Given the description of an element on the screen output the (x, y) to click on. 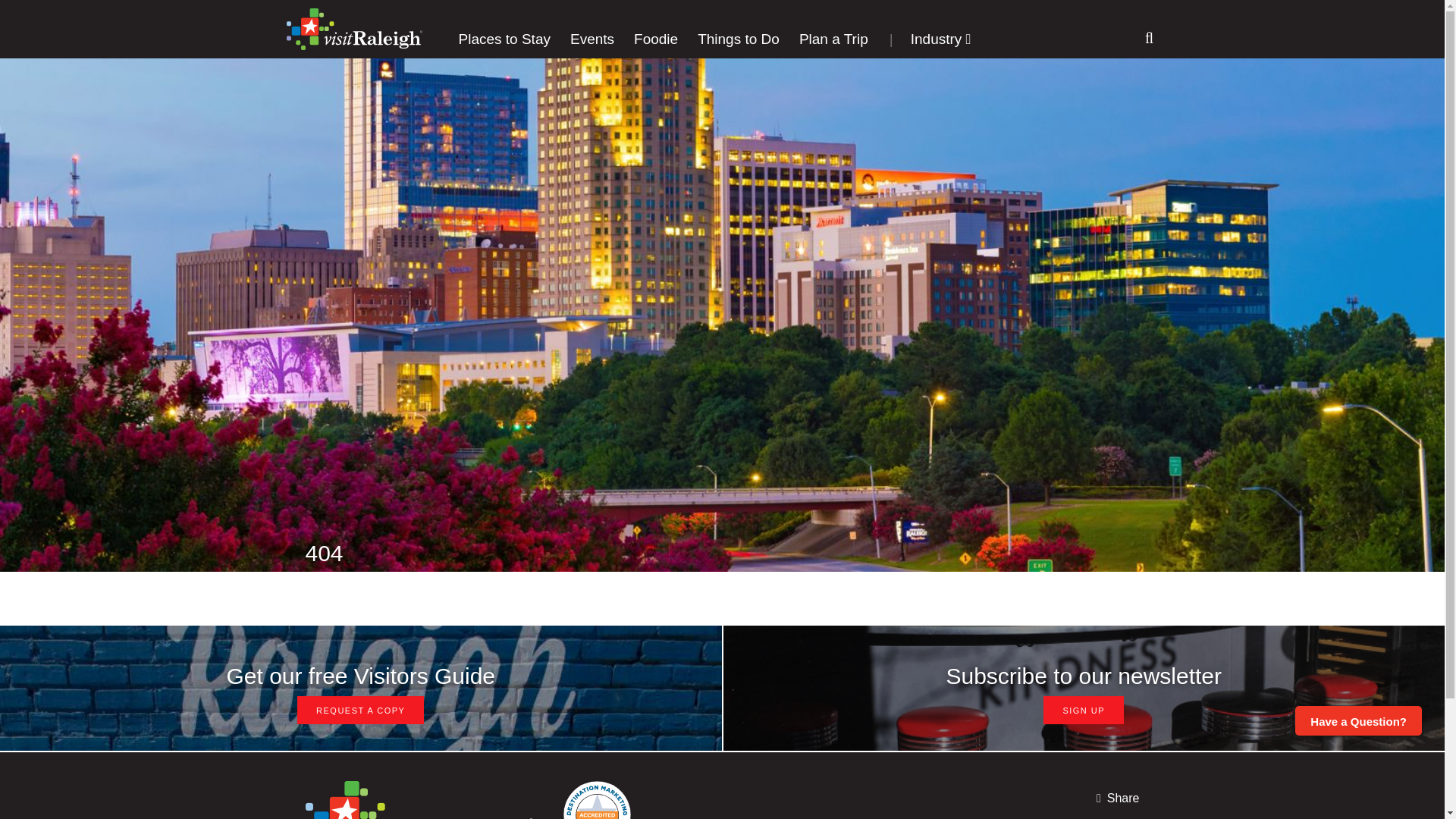
Places to Stay (504, 39)
Foodie (655, 39)
Events (592, 39)
Events (592, 39)
Places to Stay (504, 39)
